Given the description of an element on the screen output the (x, y) to click on. 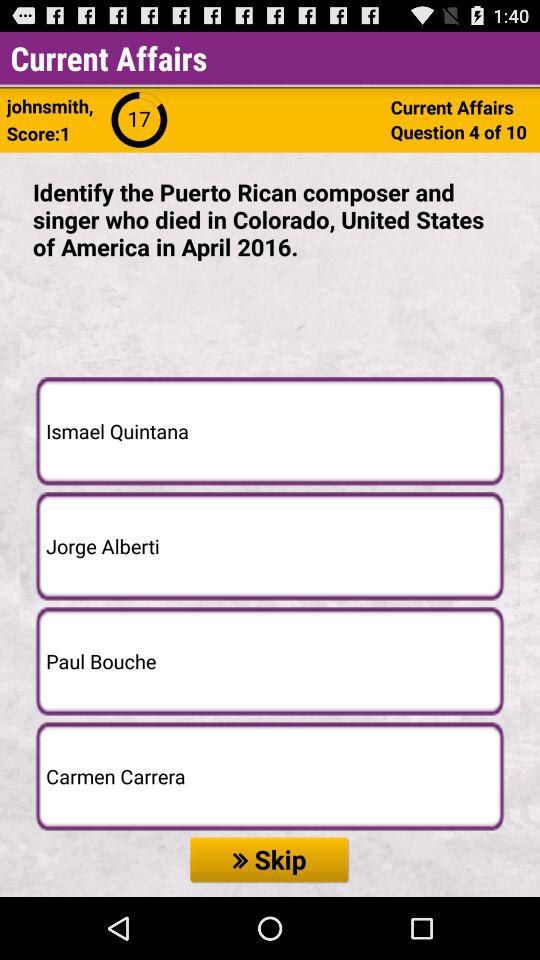
swipe to the ismael quintana (270, 430)
